Given the description of an element on the screen output the (x, y) to click on. 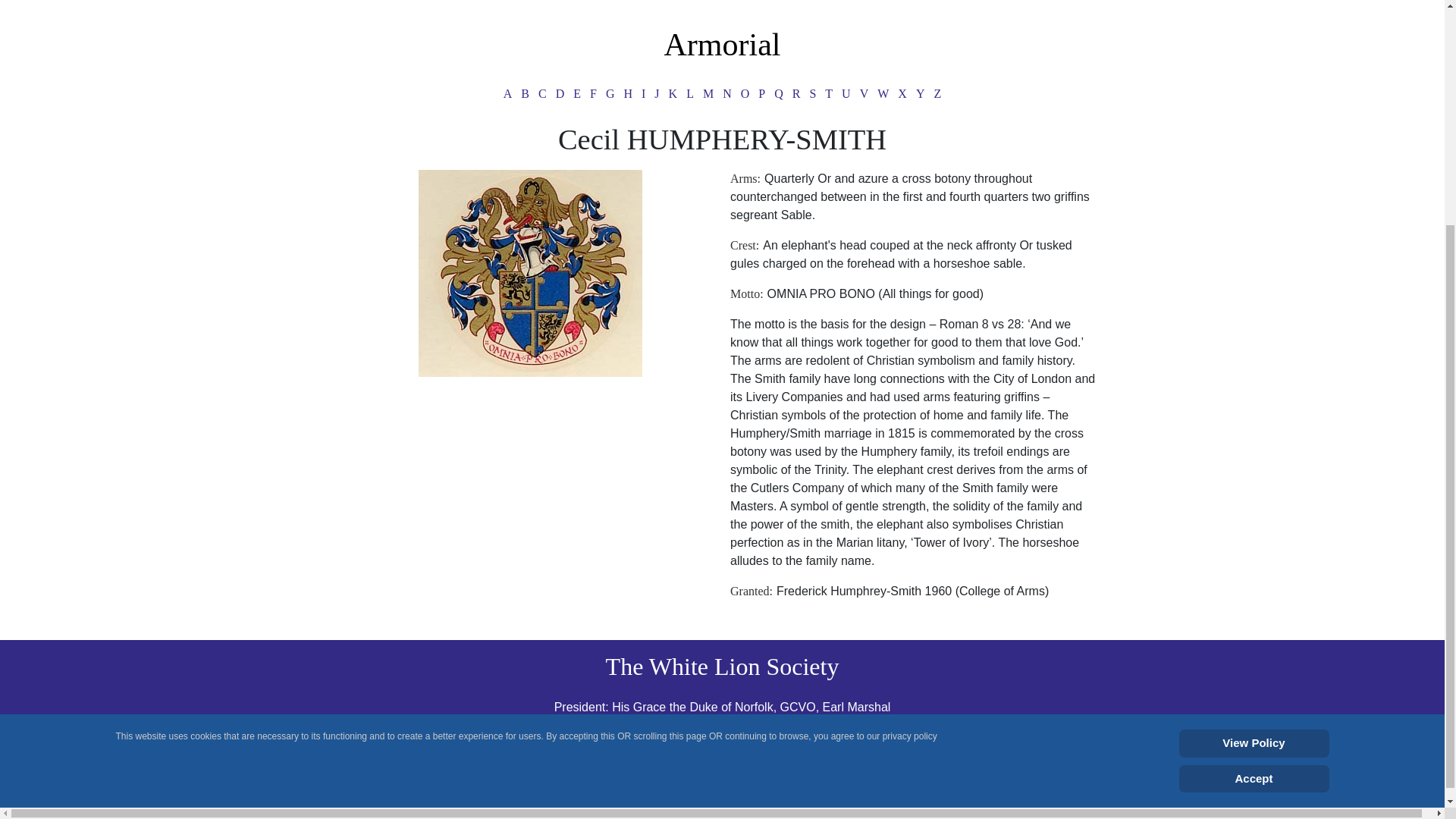
cecilhumpherysmith (530, 272)
H (627, 93)
D (560, 93)
O (745, 93)
B (525, 93)
G (610, 93)
M (707, 93)
C (542, 93)
K (672, 93)
J (656, 93)
